Given the description of an element on the screen output the (x, y) to click on. 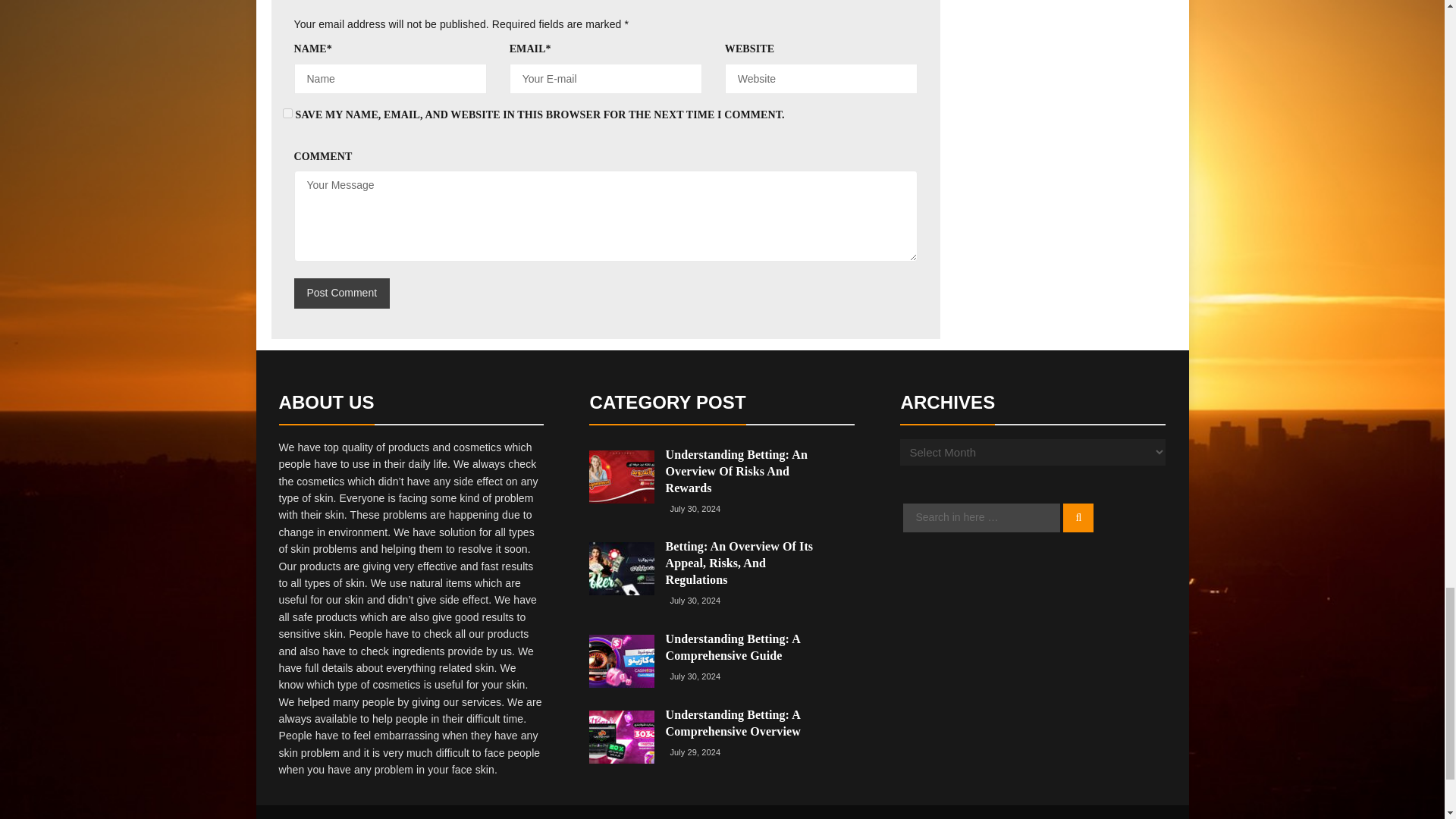
Post Comment (342, 293)
yes (287, 112)
